Given the description of an element on the screen output the (x, y) to click on. 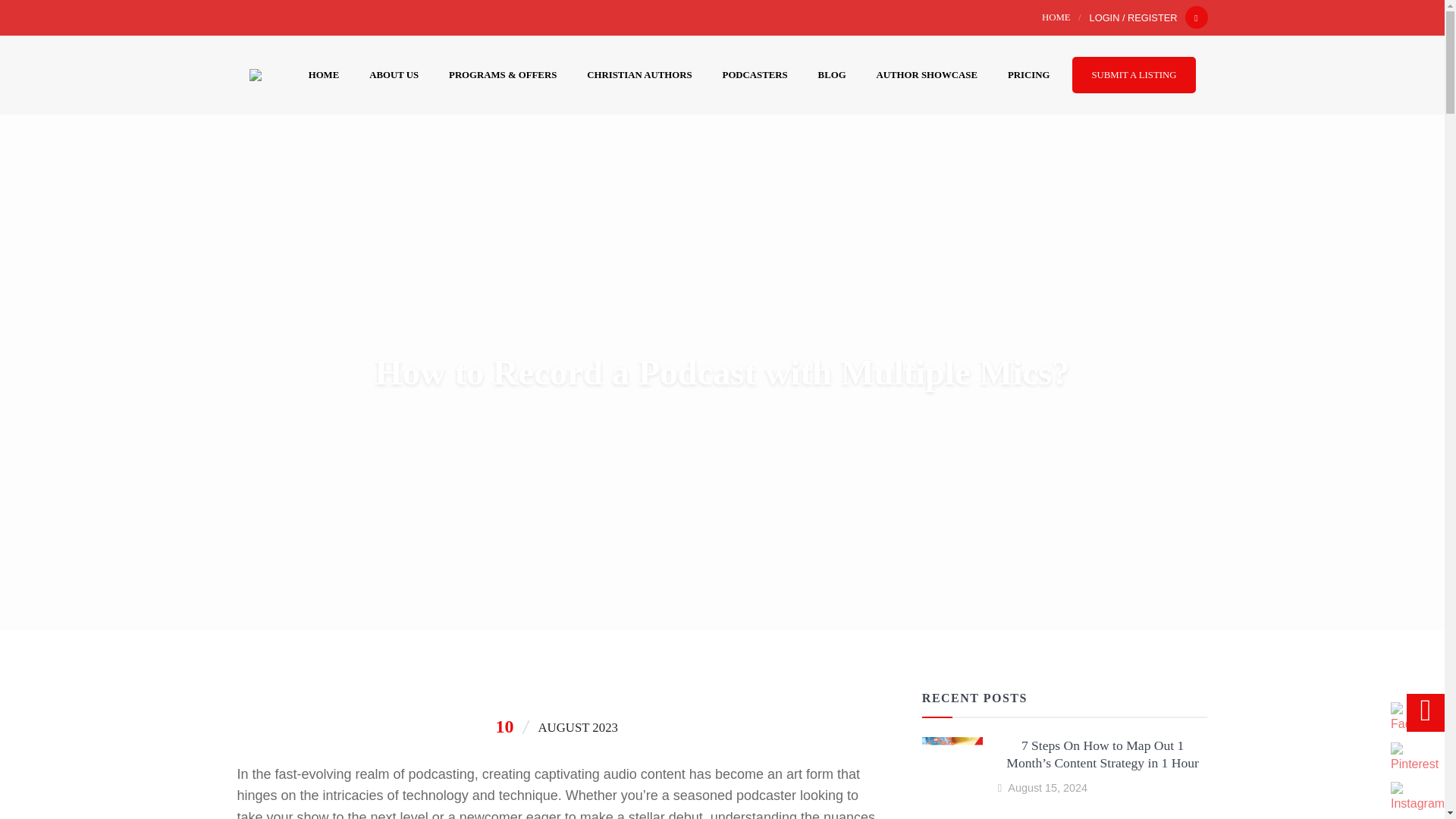
PRICING (1028, 74)
Pinterest (1414, 757)
SUBMIT A LISTING (1133, 74)
Facebook (1417, 717)
AUTHOR SHOWCASE (927, 74)
ABOUT US (393, 74)
PODCASTERS (754, 74)
CHRISTIAN AUTHORS (638, 74)
